Given the description of an element on the screen output the (x, y) to click on. 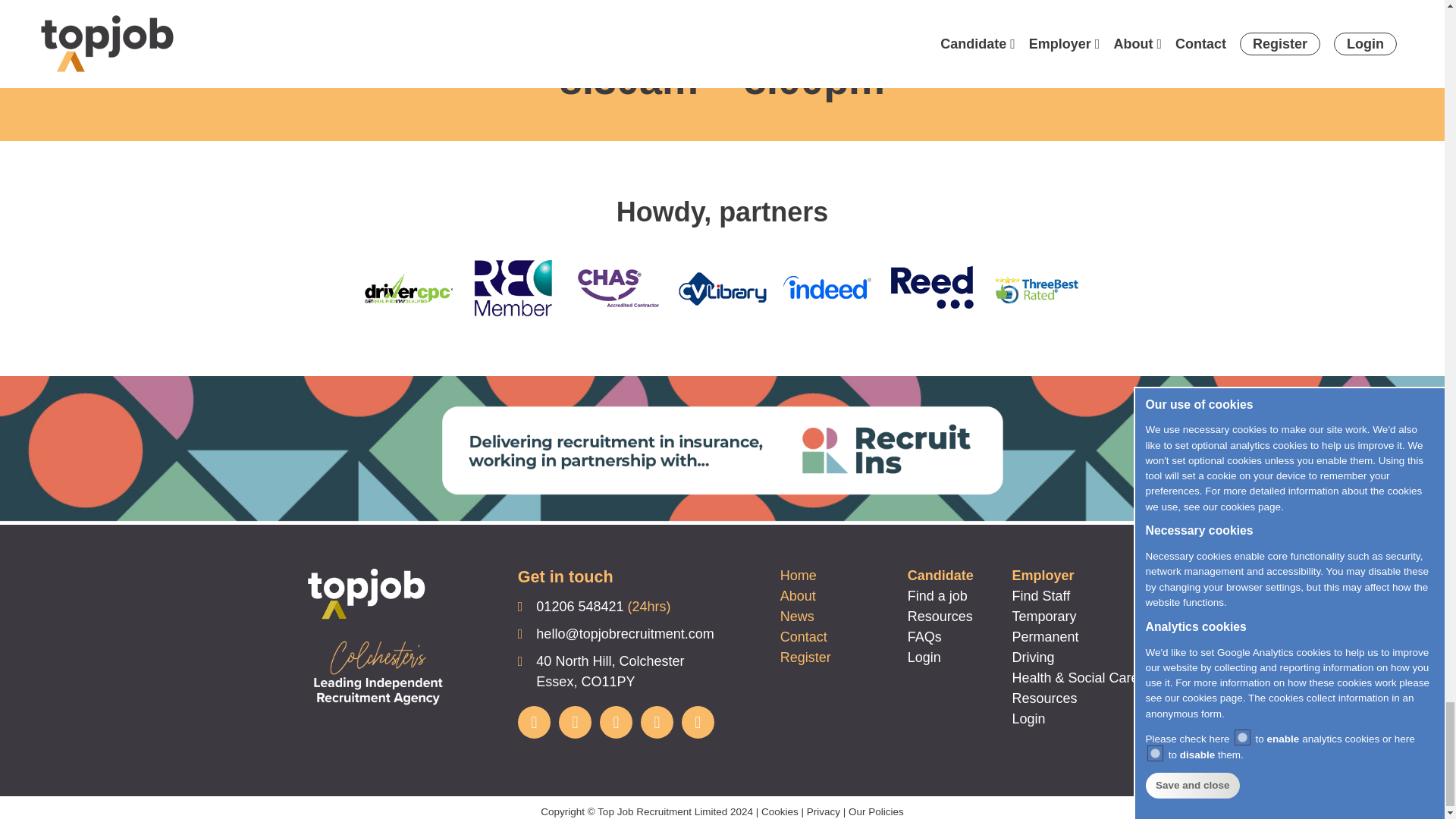
Cookies Policy (779, 811)
01206 548421 (579, 606)
Privacy Policy (823, 811)
Our Policies (876, 811)
